Given the description of an element on the screen output the (x, y) to click on. 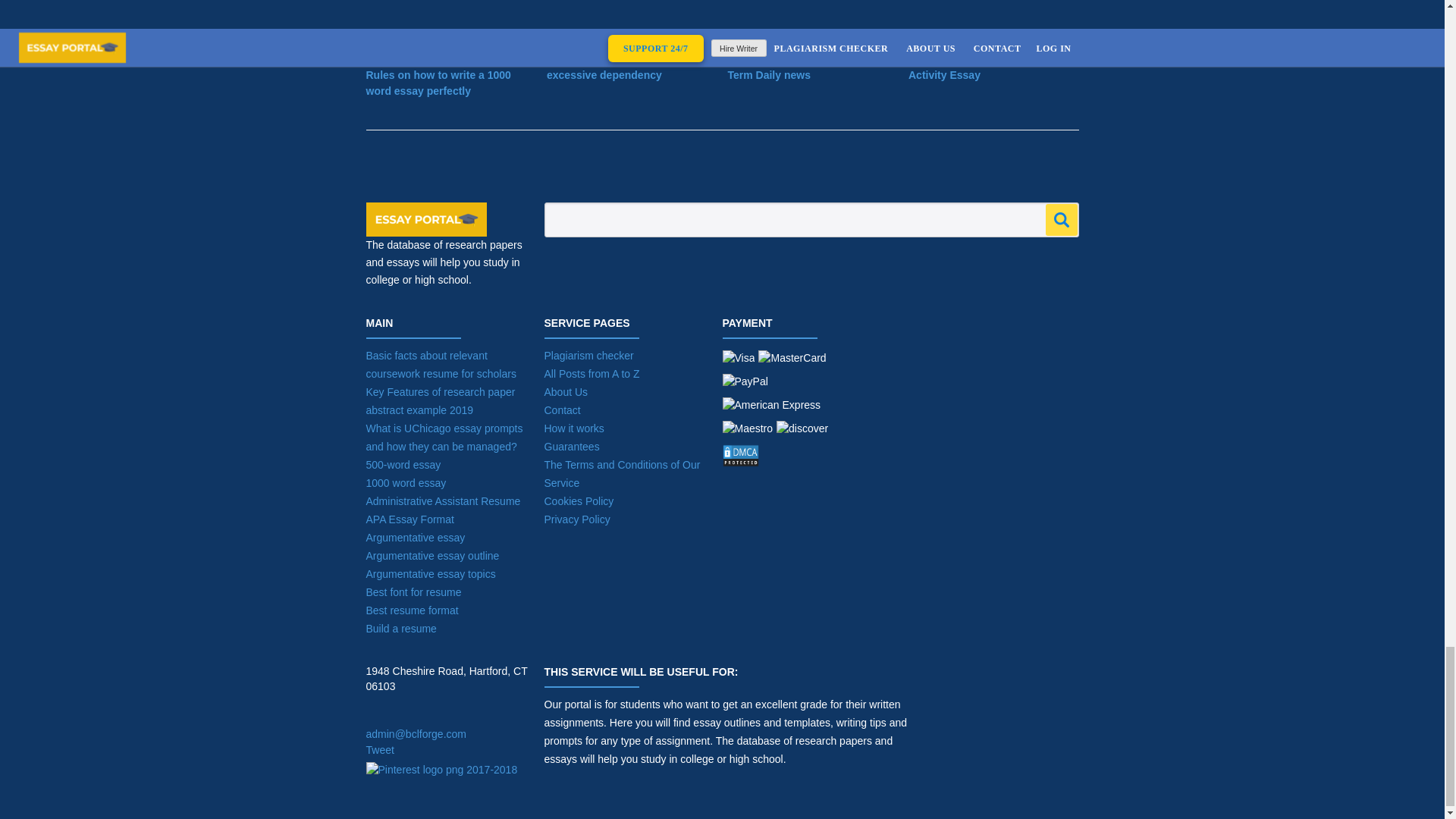
Content Protection by DMCA.com (786, 459)
